Given the description of an element on the screen output the (x, y) to click on. 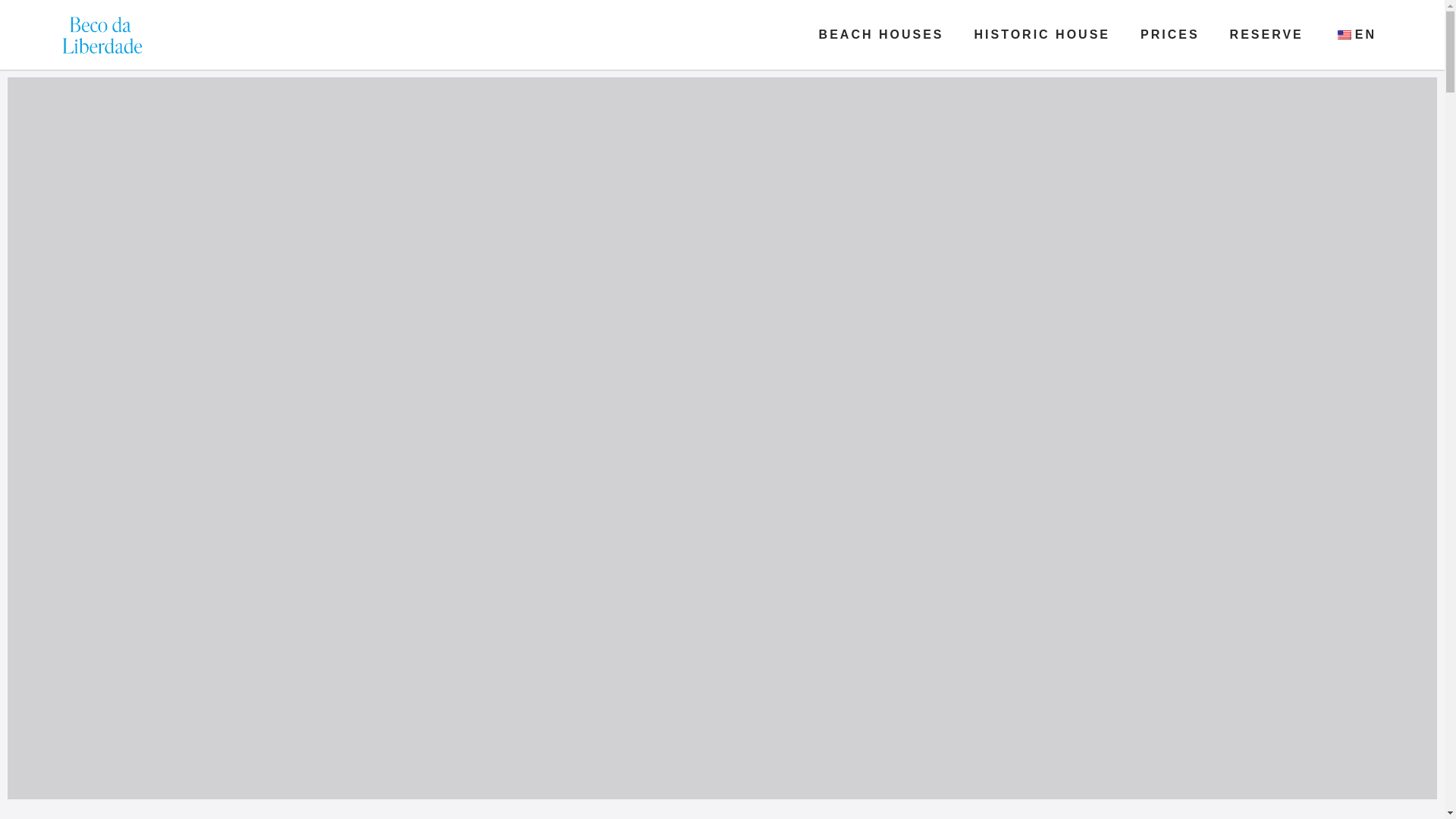
English (1344, 34)
RESERVE (1266, 34)
EN (1355, 34)
PRICES (1169, 34)
BEACH HOUSES (881, 34)
HISTORIC HOUSE (1041, 34)
